Given the description of an element on the screen output the (x, y) to click on. 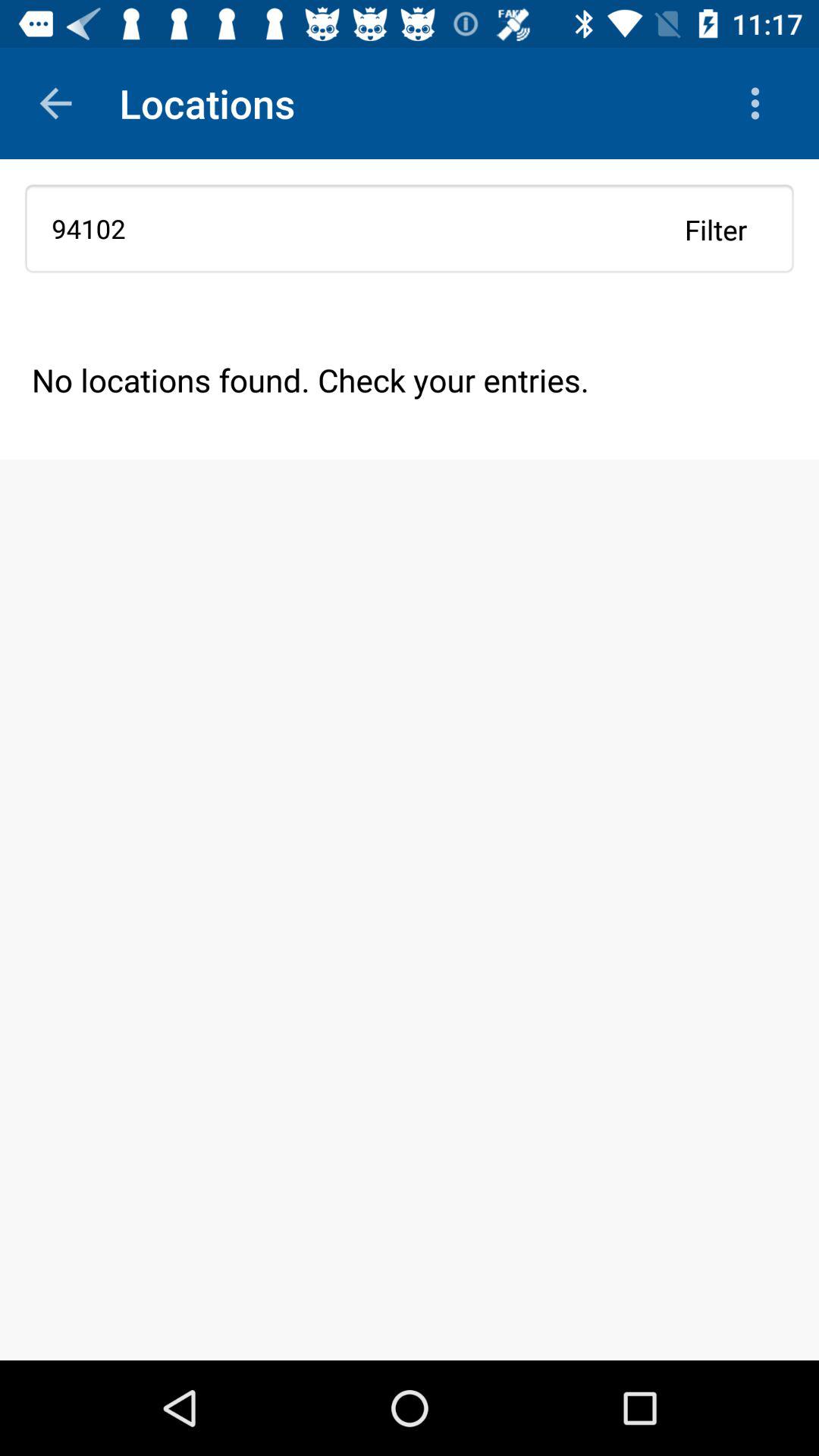
open the item next to the locations item (55, 103)
